Given the description of an element on the screen output the (x, y) to click on. 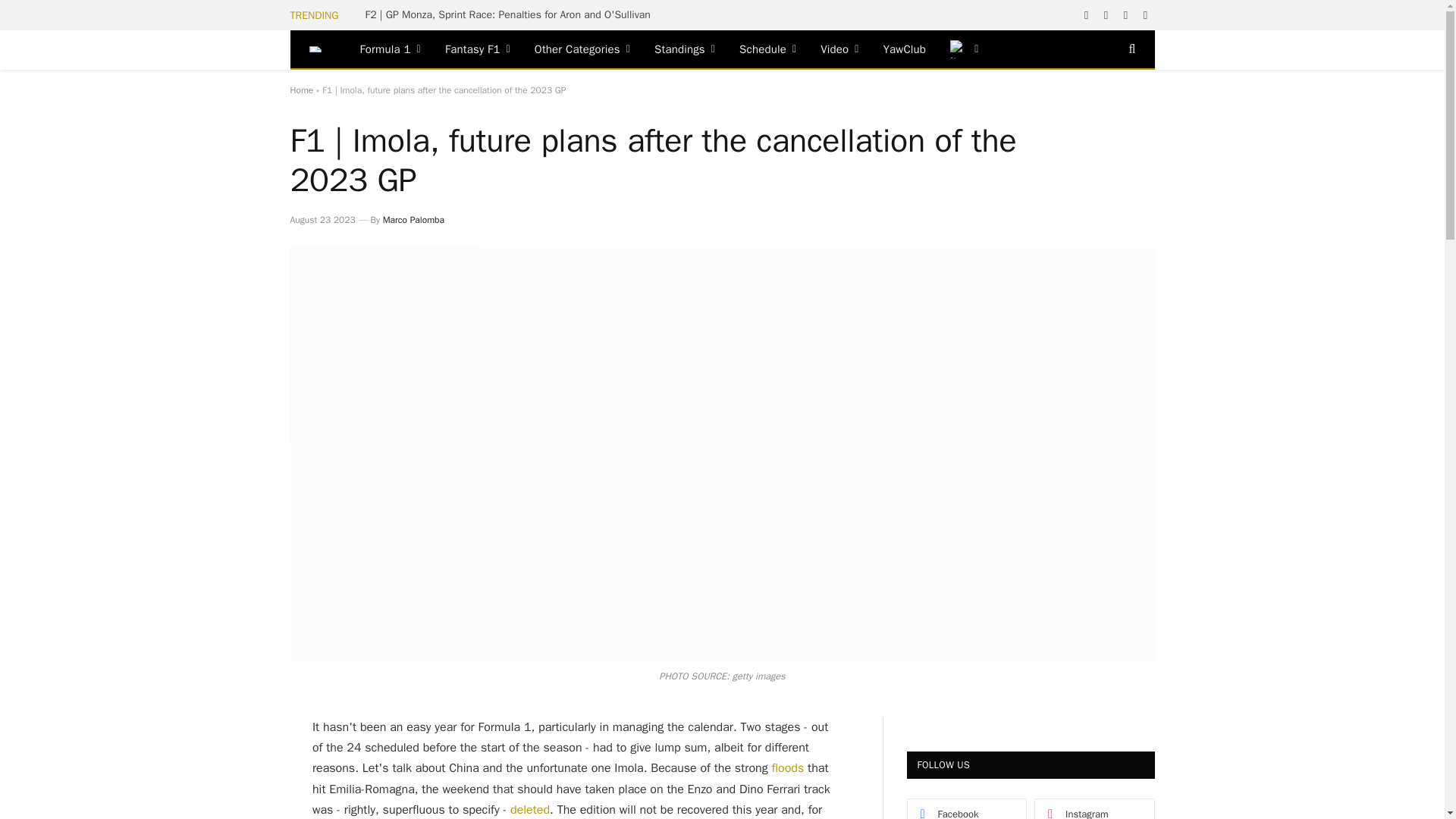
Formula 1 (389, 48)
Fantasy F1 (477, 48)
Articles written by Marco Palomba (413, 219)
Other Categories (582, 48)
